Given the description of an element on the screen output the (x, y) to click on. 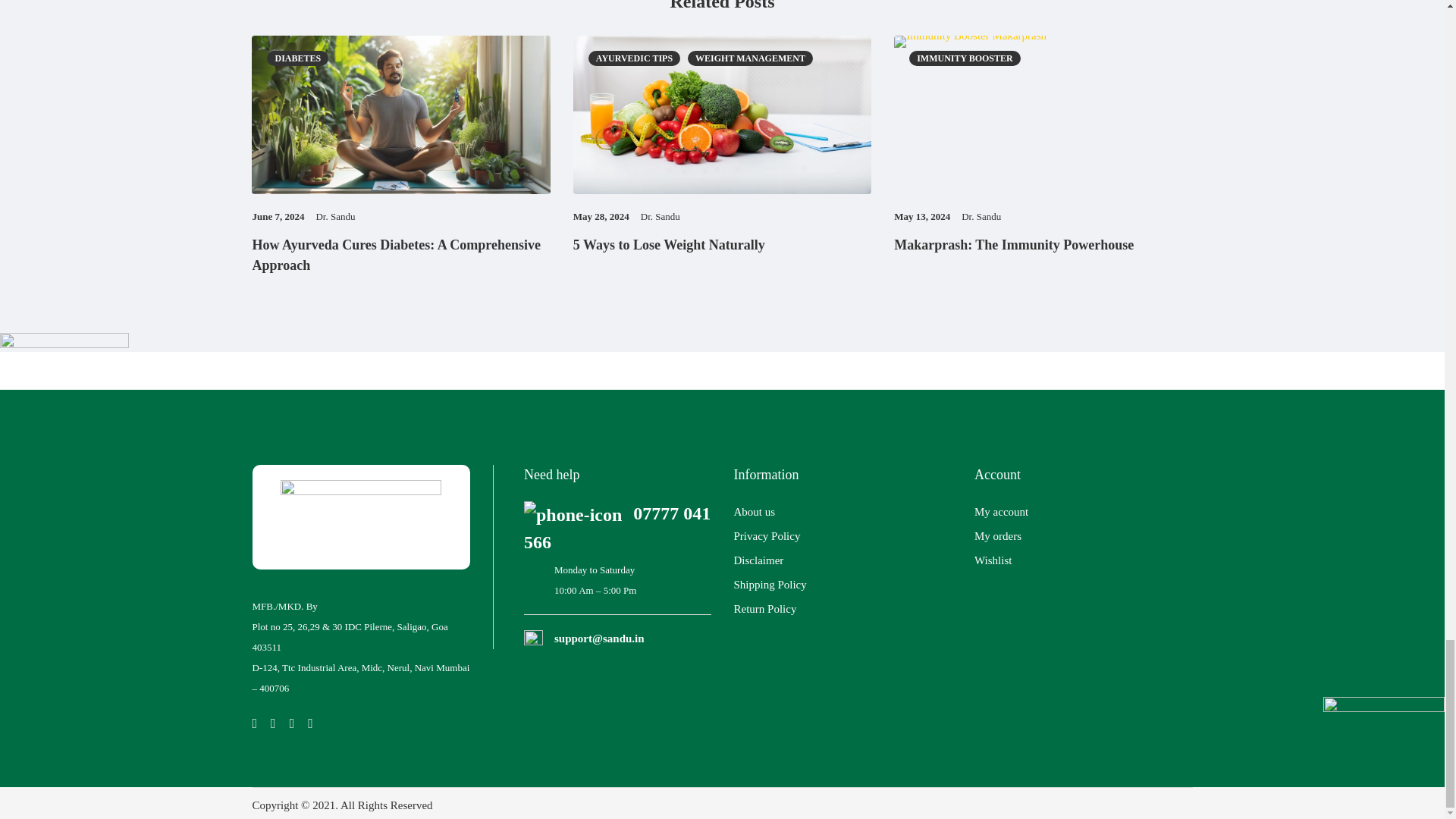
Posts by Dr. Sandu (659, 215)
Posts by Dr. Sandu (980, 215)
Posts by Dr. Sandu (335, 215)
